Given the description of an element on the screen output the (x, y) to click on. 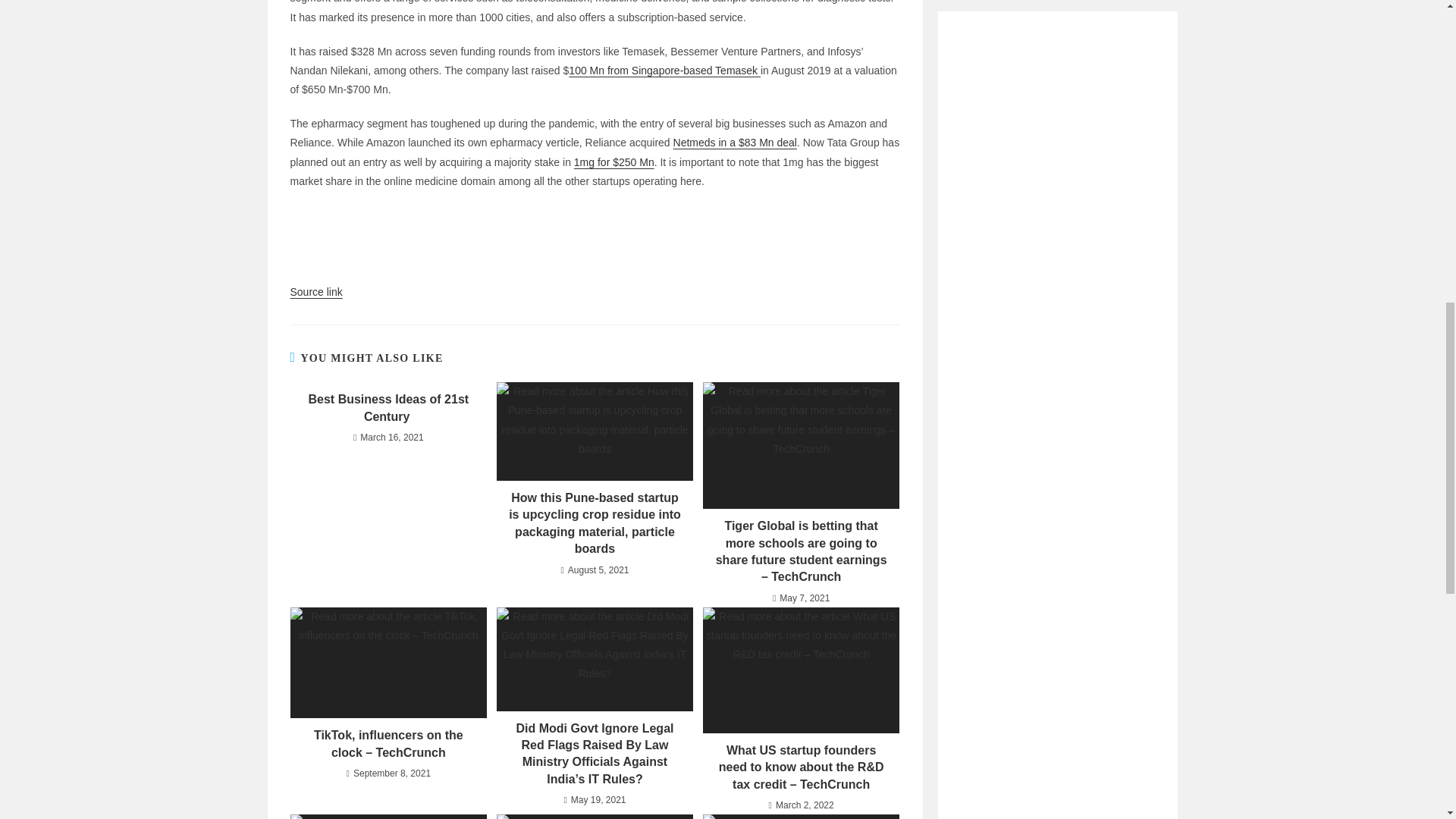
100 Mn from Singapore-based Temasek (664, 70)
Source link (315, 291)
Best Business Ideas of 21st Century  (387, 408)
